Given the description of an element on the screen output the (x, y) to click on. 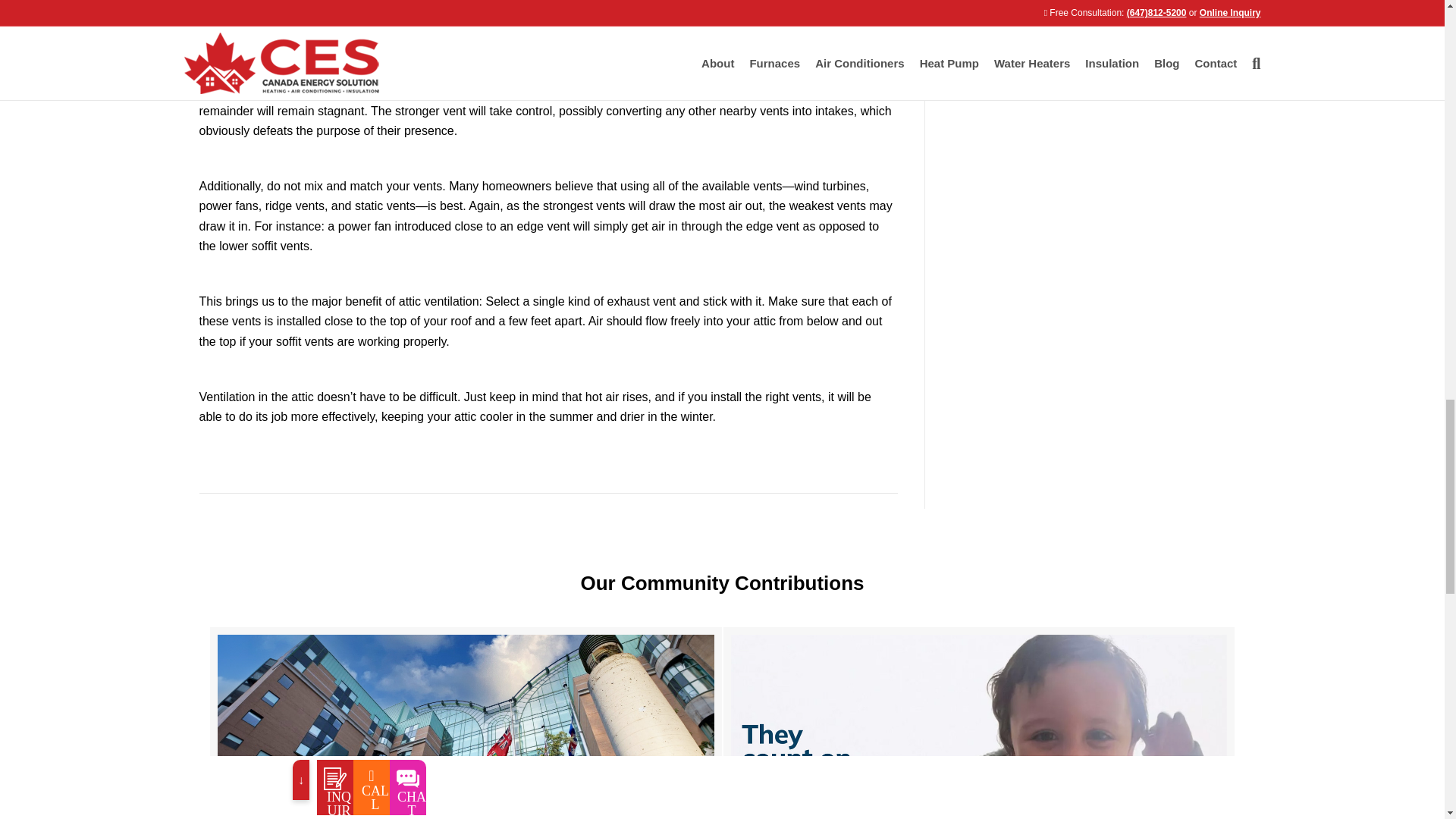
Supporting Our Future: Our Donation to SickKids (465, 723)
donation-to-sickkids2 (465, 726)
Improving Local Healthcare: Our Support to Oakville Hospital (978, 723)
Oakvill Hospital.2 (978, 726)
